Given the description of an element on the screen output the (x, y) to click on. 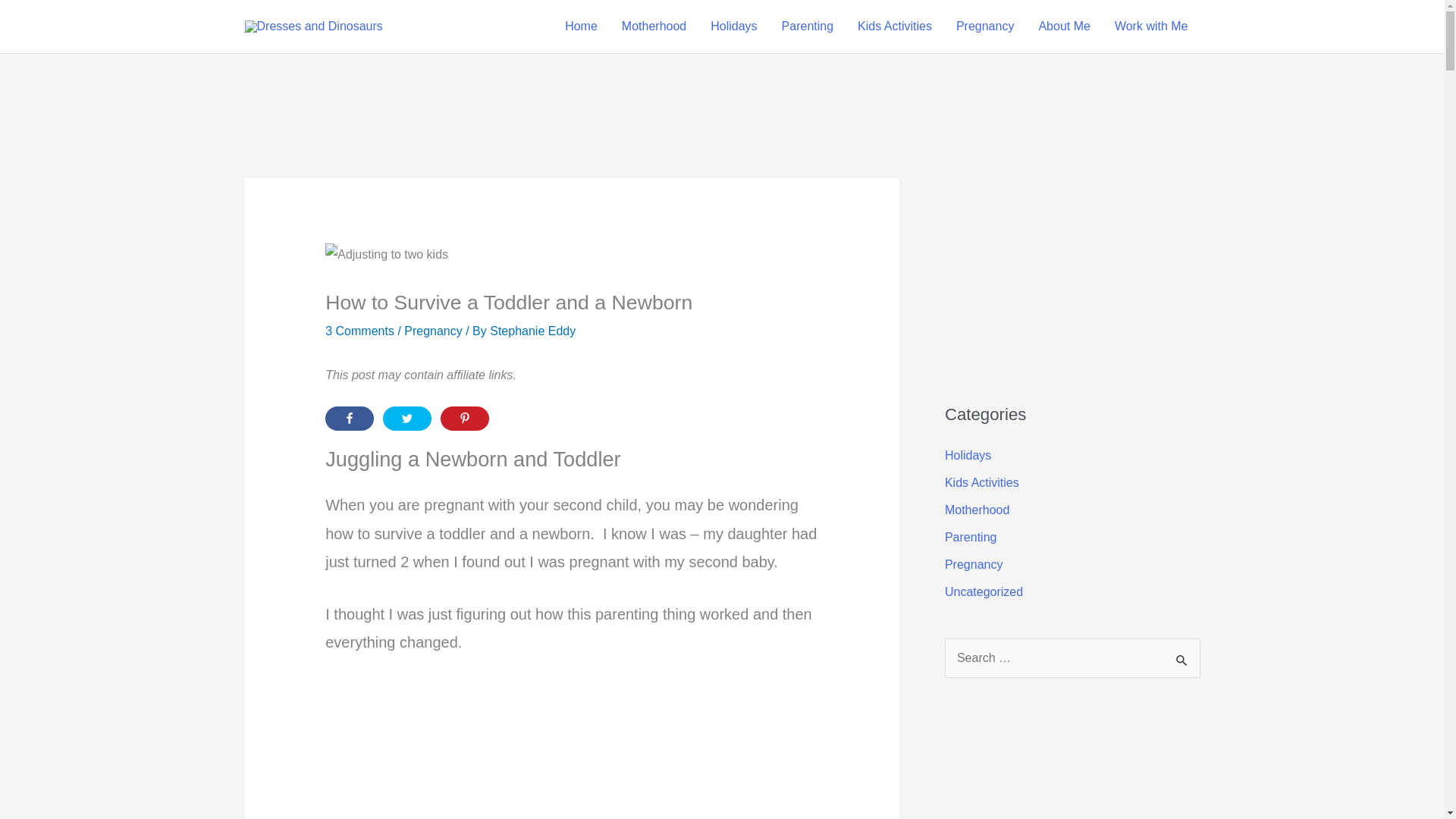
3 Comments (359, 330)
Search (1182, 659)
View all posts by Stephanie Eddy (532, 330)
Pregnancy (433, 330)
Share on Pinterest (465, 418)
Kids Activities (894, 26)
Holidays (733, 26)
Motherhood (654, 26)
Share on Twitter (406, 418)
Stephanie Eddy (532, 330)
Home (581, 26)
Pregnancy (984, 26)
Work with Me (1150, 26)
Share on Facebook (349, 418)
Parenting (807, 26)
